Given the description of an element on the screen output the (x, y) to click on. 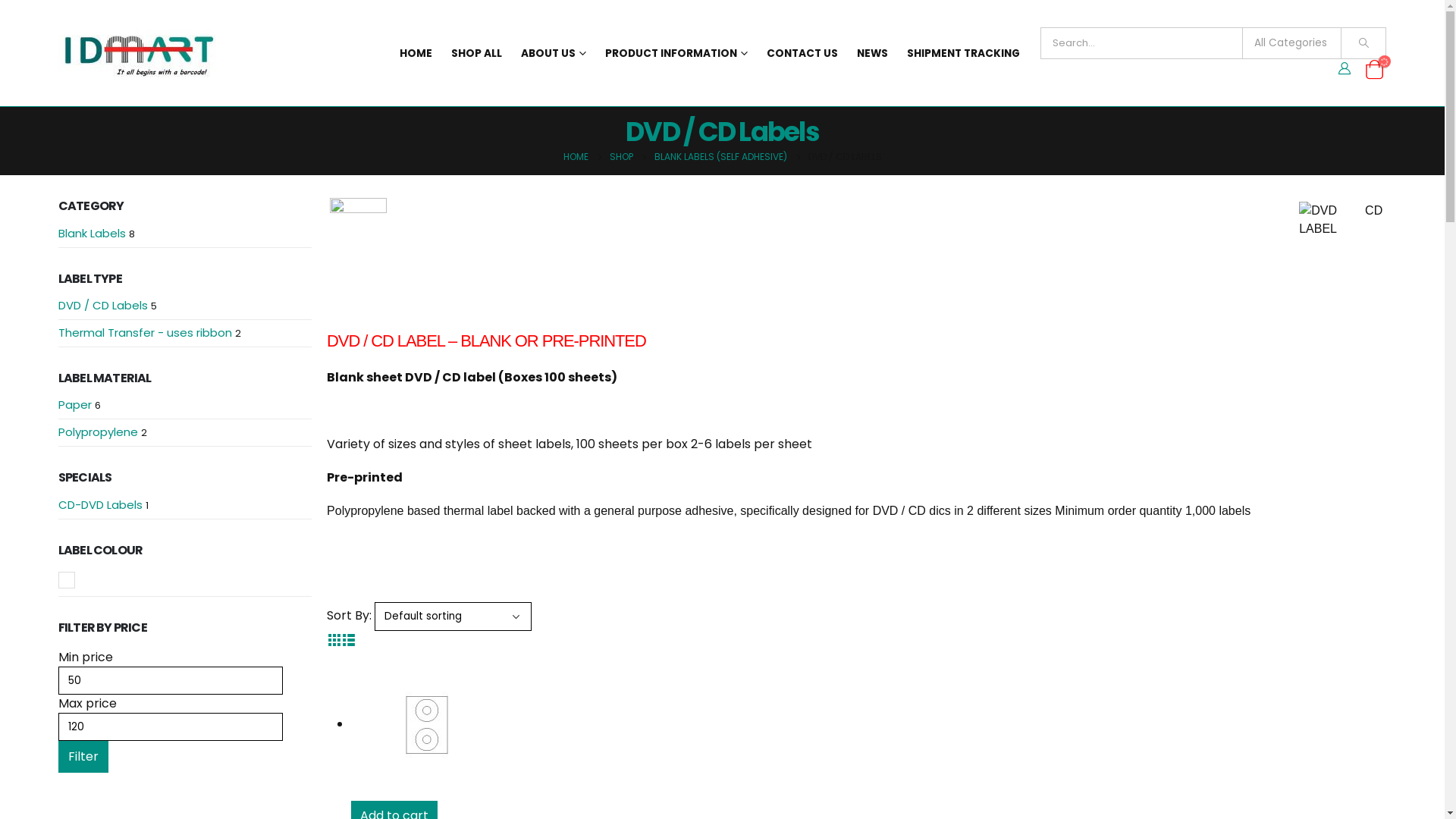
CD-DVD Labels Element type: text (100, 504)
DVD / CD Labels Element type: text (102, 305)
Paper Element type: text (74, 404)
BLANK LABELS (SELF ADHESIVE) Element type: text (719, 156)
Search Element type: hover (1363, 43)
ABOUT US Element type: text (553, 53)
Blank Labels Element type: text (91, 233)
Grid View Element type: hover (333, 639)
CONTACT US Element type: text (802, 53)
Thermal Transfer - uses ribbon Element type: text (145, 332)
My Account Element type: hover (1344, 68)
Polypropylene Element type: text (98, 431)
PRODUCT INFORMATION Element type: text (676, 53)
SHIPMENT TRACKING Element type: text (963, 53)
SHOP Element type: text (621, 156)
HOME Element type: text (574, 156)
SHOP ALL Element type: text (476, 53)
NEWS Element type: text (872, 53)
HOME Element type: text (415, 53)
White Element type: text (66, 579)
Filter Element type: text (83, 756)
List View Element type: hover (348, 639)
